Given the description of an element on the screen output the (x, y) to click on. 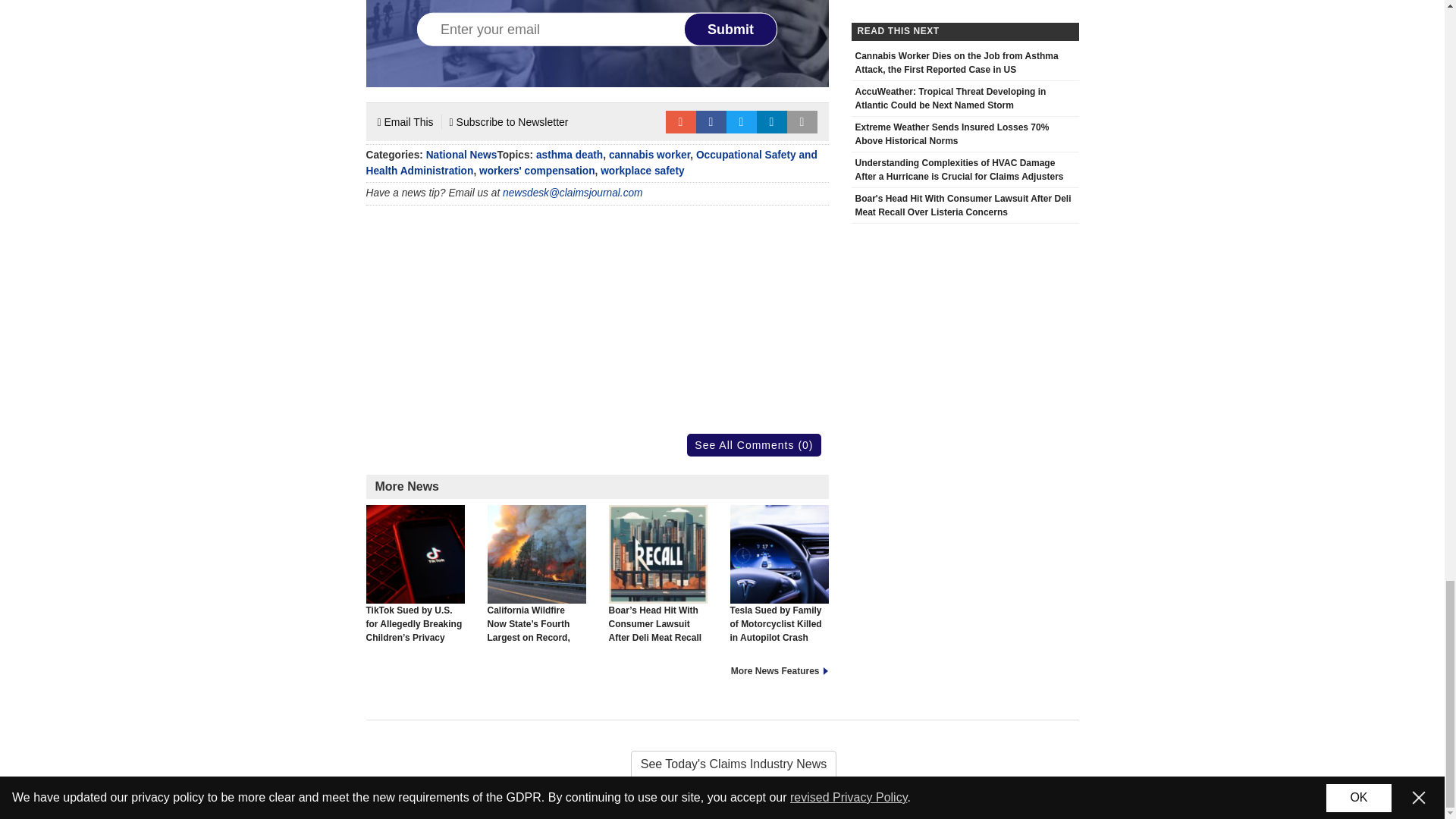
Insurance Market Search Engine (962, 692)
Go (500, 651)
Insurance News by Topic (398, 575)
